Given the description of an element on the screen output the (x, y) to click on. 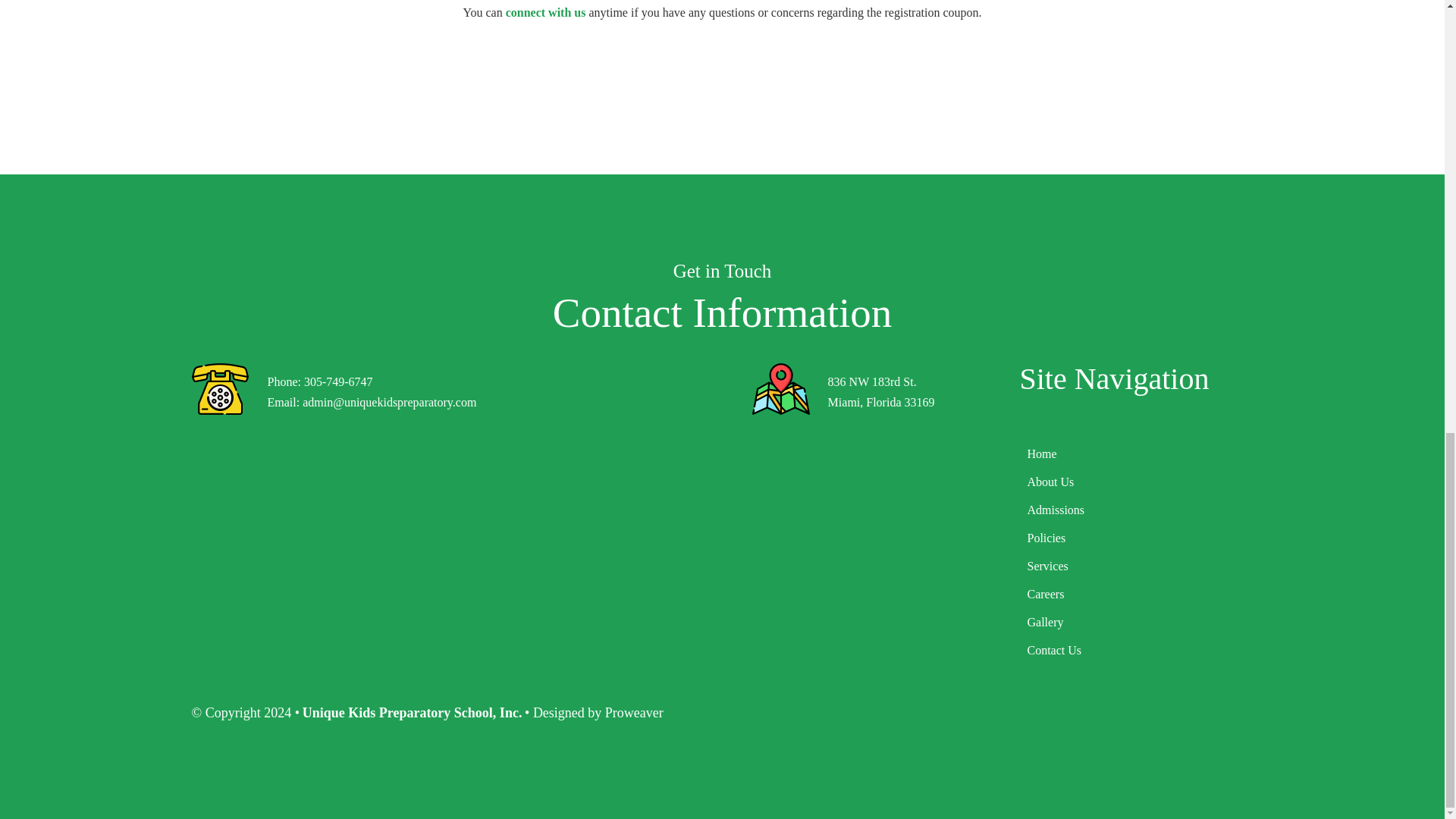
Home (1135, 453)
Admissions (1135, 509)
Policies (1135, 537)
Proweaver (634, 712)
connect with us (545, 11)
About Us (1135, 481)
